Given the description of an element on the screen output the (x, y) to click on. 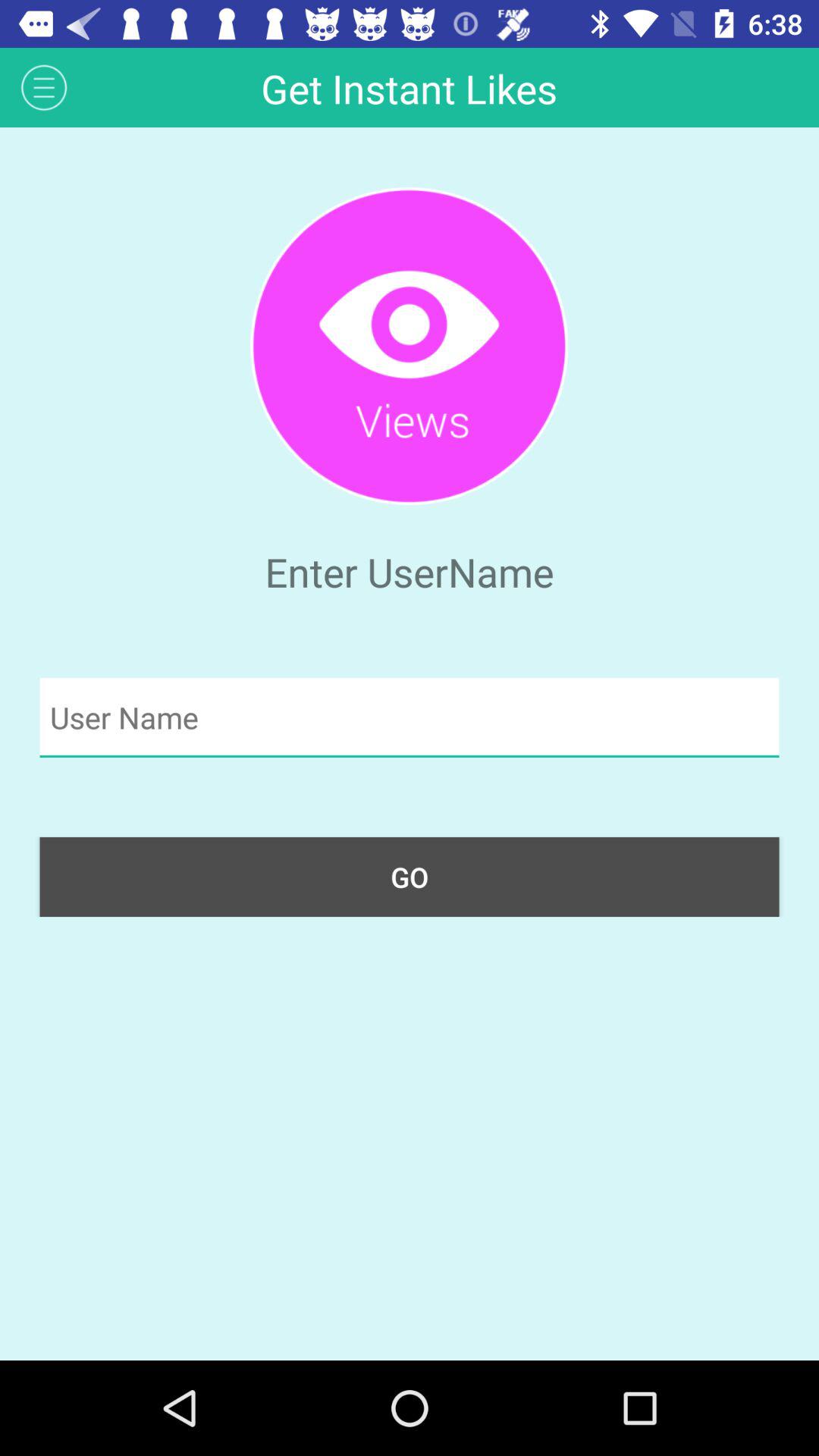
launch icon to the left of get instant likes (44, 87)
